Given the description of an element on the screen output the (x, y) to click on. 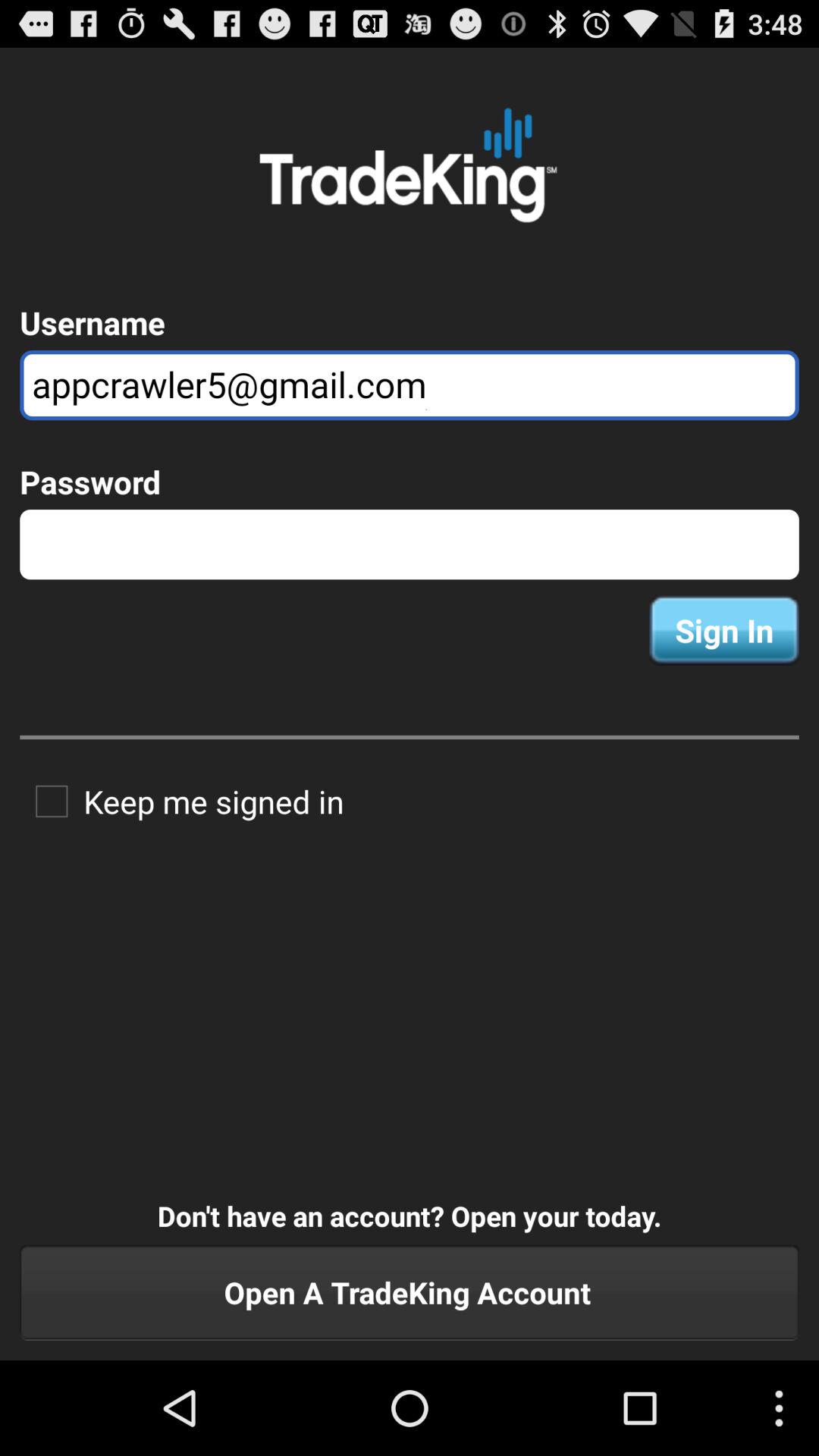
click the icon below the username item (409, 385)
